Given the description of an element on the screen output the (x, y) to click on. 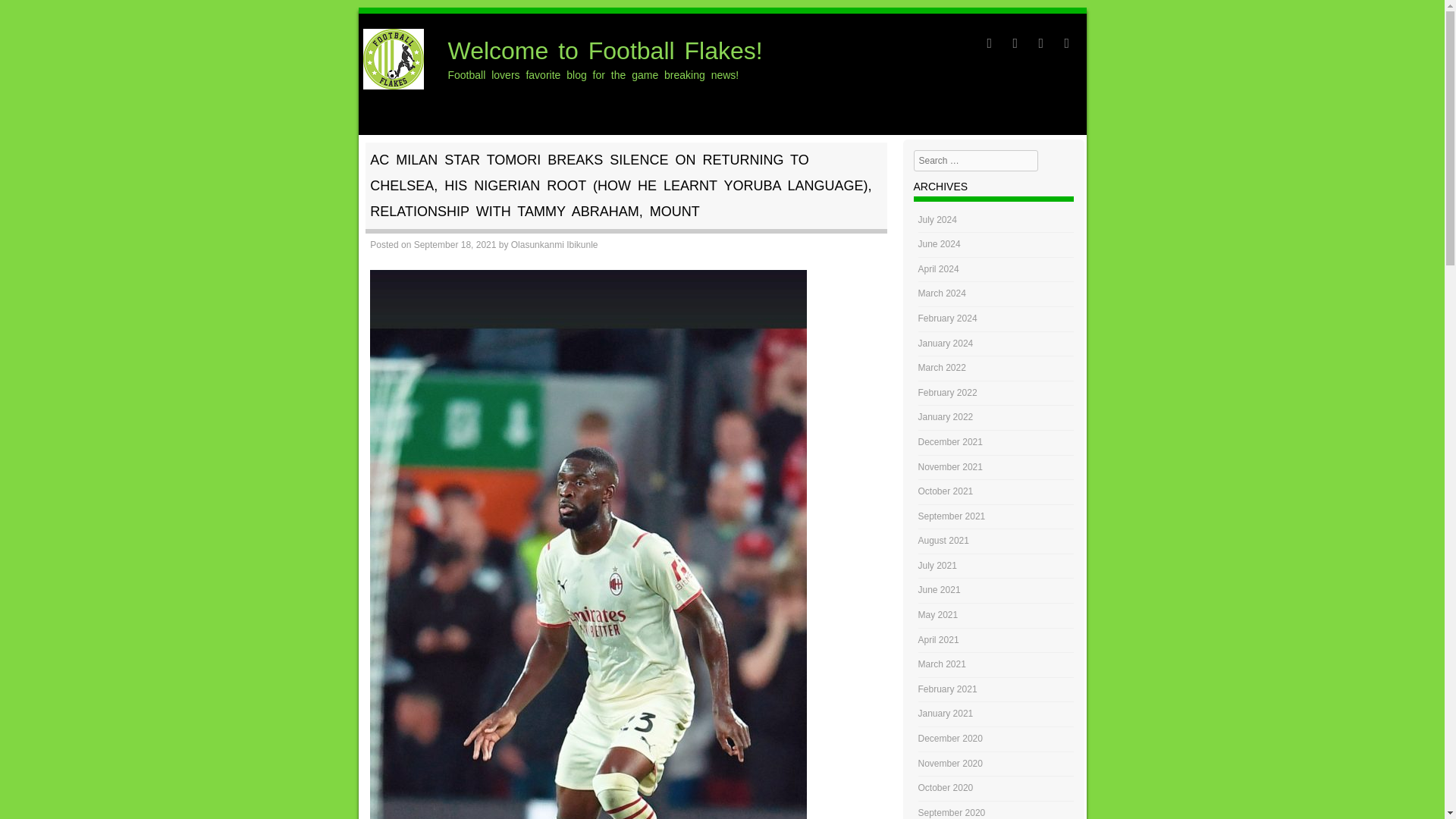
January 2021 (946, 713)
December 2020 (950, 738)
July 2021 (937, 565)
November 2020 (950, 763)
December 2021 (950, 441)
March 2024 (942, 293)
November 2021 (950, 466)
May 2021 (938, 614)
April 2024 (938, 268)
June 2024 (939, 244)
February 2021 (947, 688)
Welcome to Football Flakes! (392, 85)
April 2021 (938, 639)
March 2022 (942, 367)
October 2021 (946, 491)
